Given the description of an element on the screen output the (x, y) to click on. 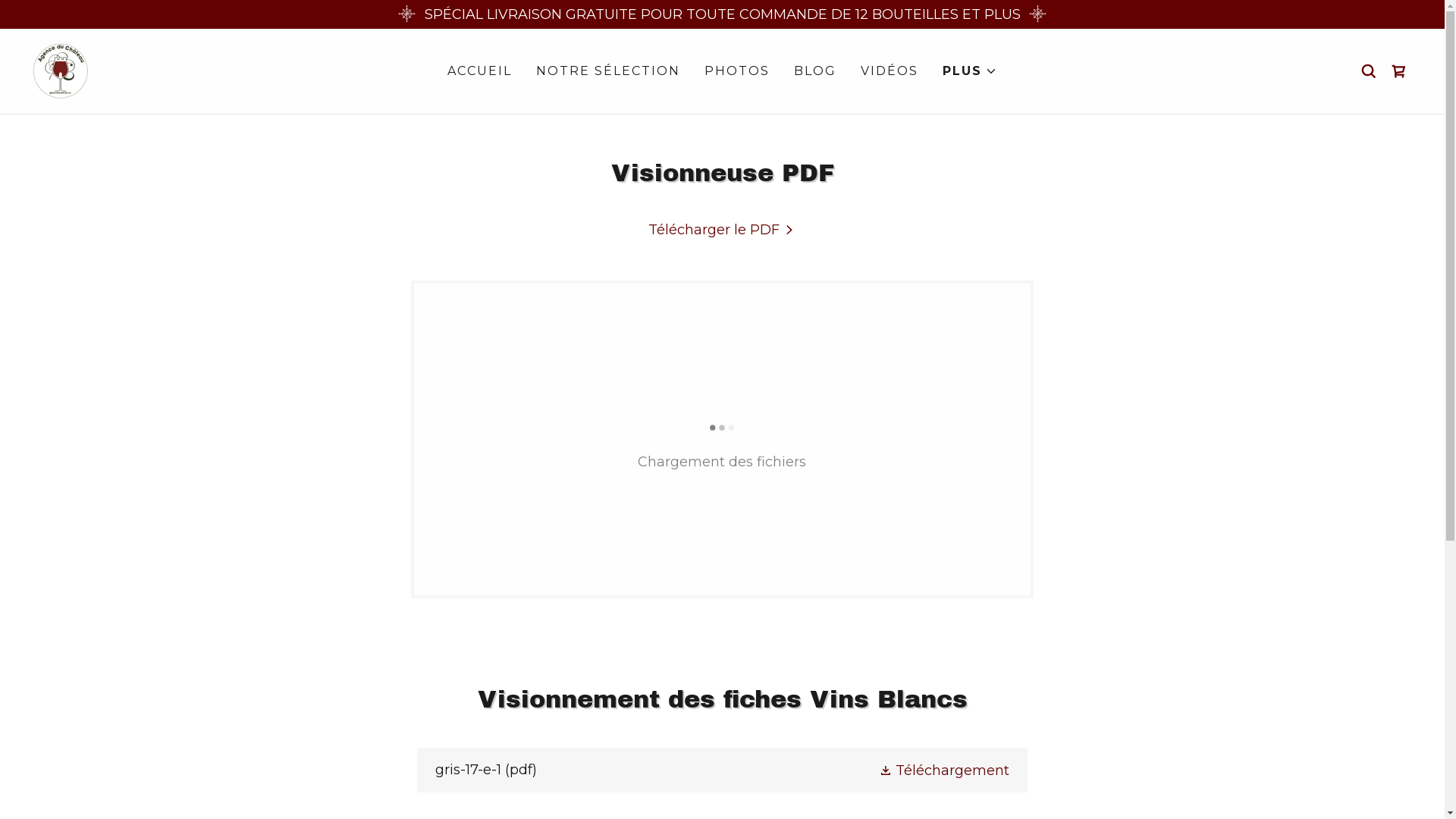
PHOTOS Element type: text (736, 70)
BLOG Element type: text (814, 70)
PLUS Element type: text (969, 71)
ACCUEIL Element type: text (479, 70)
